Given the description of an element on the screen output the (x, y) to click on. 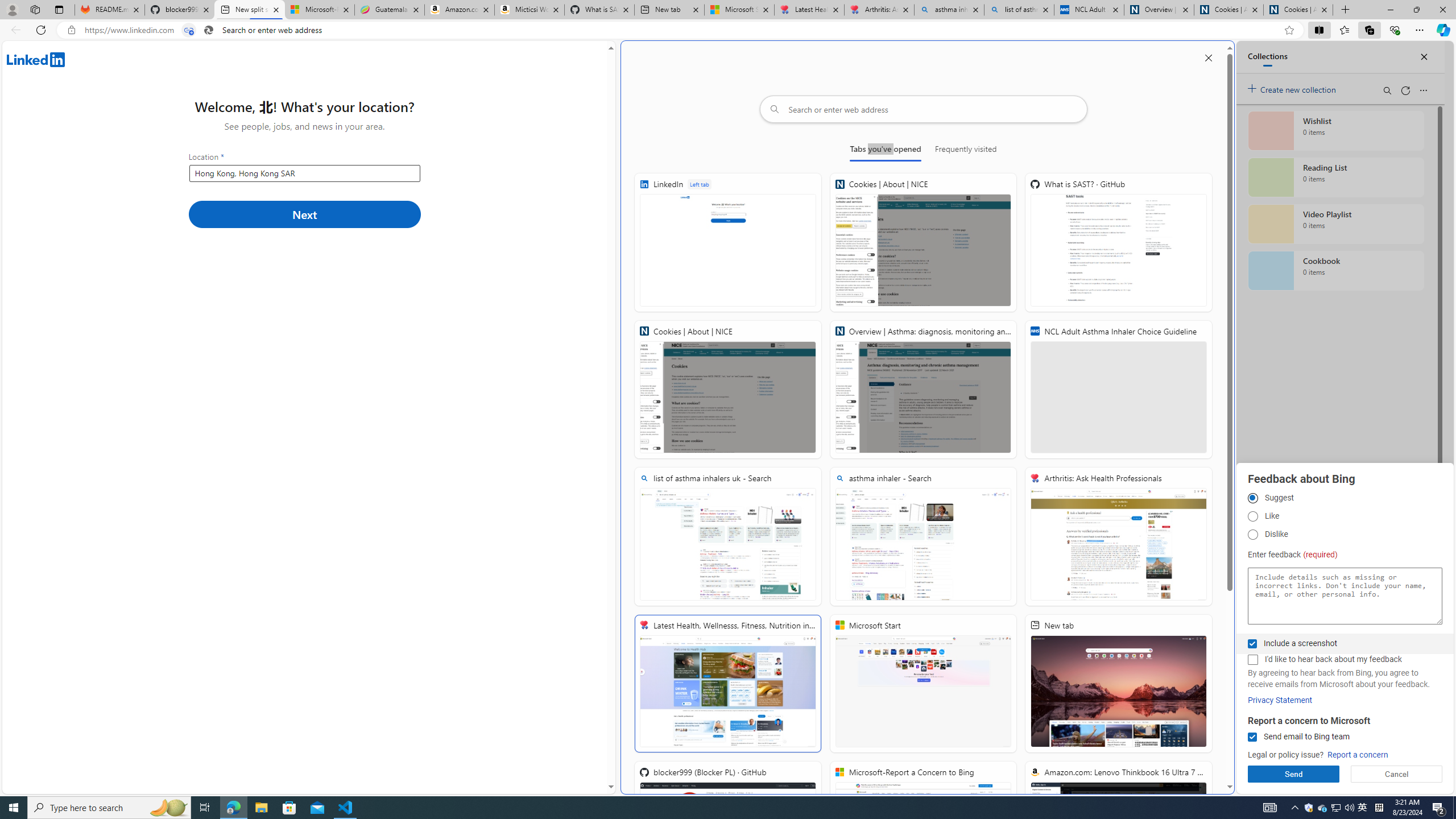
Report a concern (1358, 755)
Close split screen (1208, 57)
asthma inhaler - Search (922, 536)
Send (1293, 773)
Search or enter web address (922, 108)
Tabs in split screen (189, 29)
asthma inhaler - Search (949, 9)
